Given the description of an element on the screen output the (x, y) to click on. 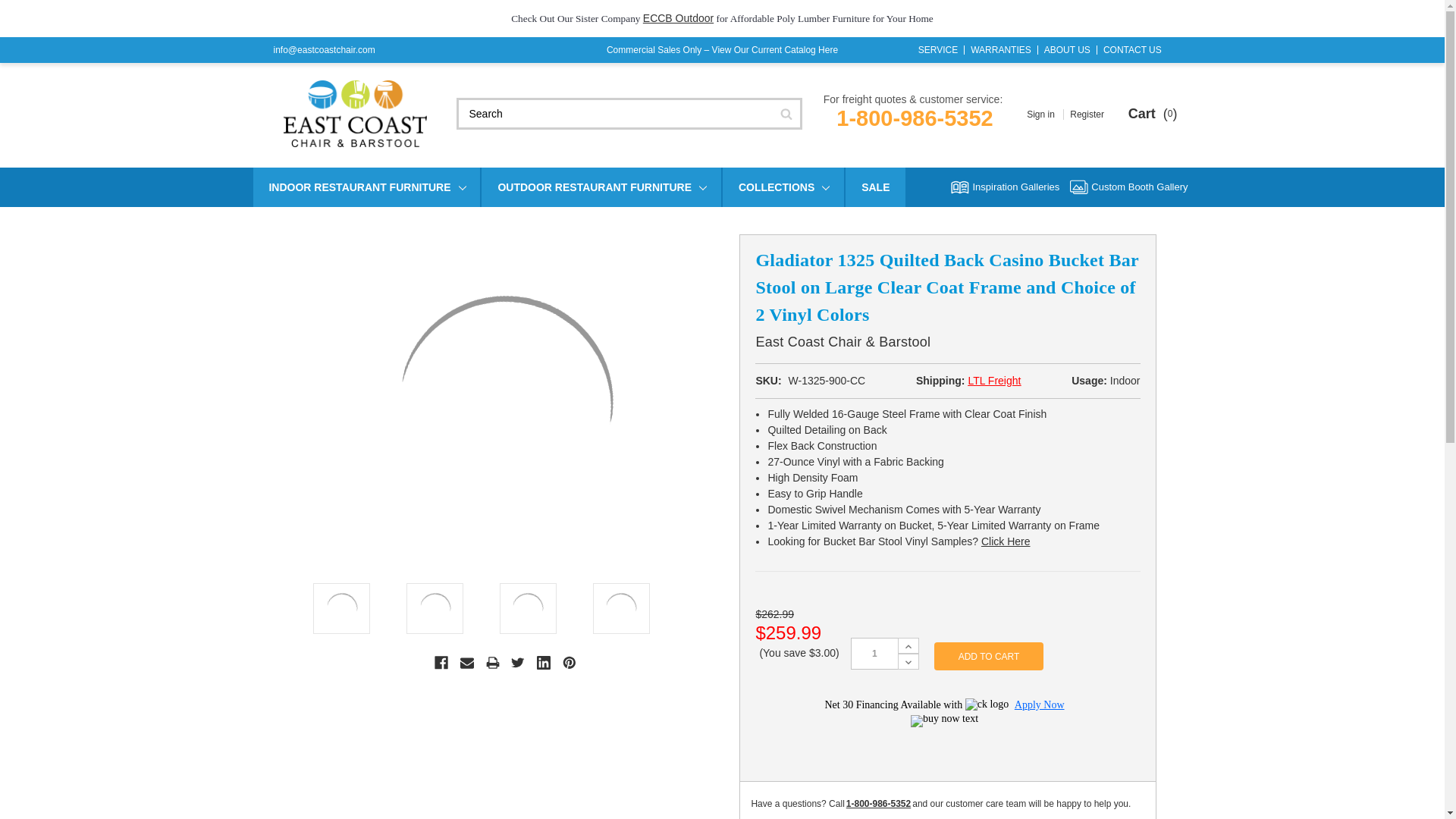
Add to Cart (988, 656)
East Coast Chair and Barstool (355, 113)
1-800-986-5352 (913, 118)
WARRANTIES (999, 49)
Sign in (1042, 113)
SERVICE (937, 49)
OUTDOOR RESTAURANT FURNITURE (600, 187)
View Our Current Catalog Here (774, 50)
1 (874, 653)
ABOUT US (1067, 49)
ECCB Outdoor (678, 18)
Register (1086, 113)
INDOOR RESTAURANT FURNITURE (366, 187)
